Given the description of an element on the screen output the (x, y) to click on. 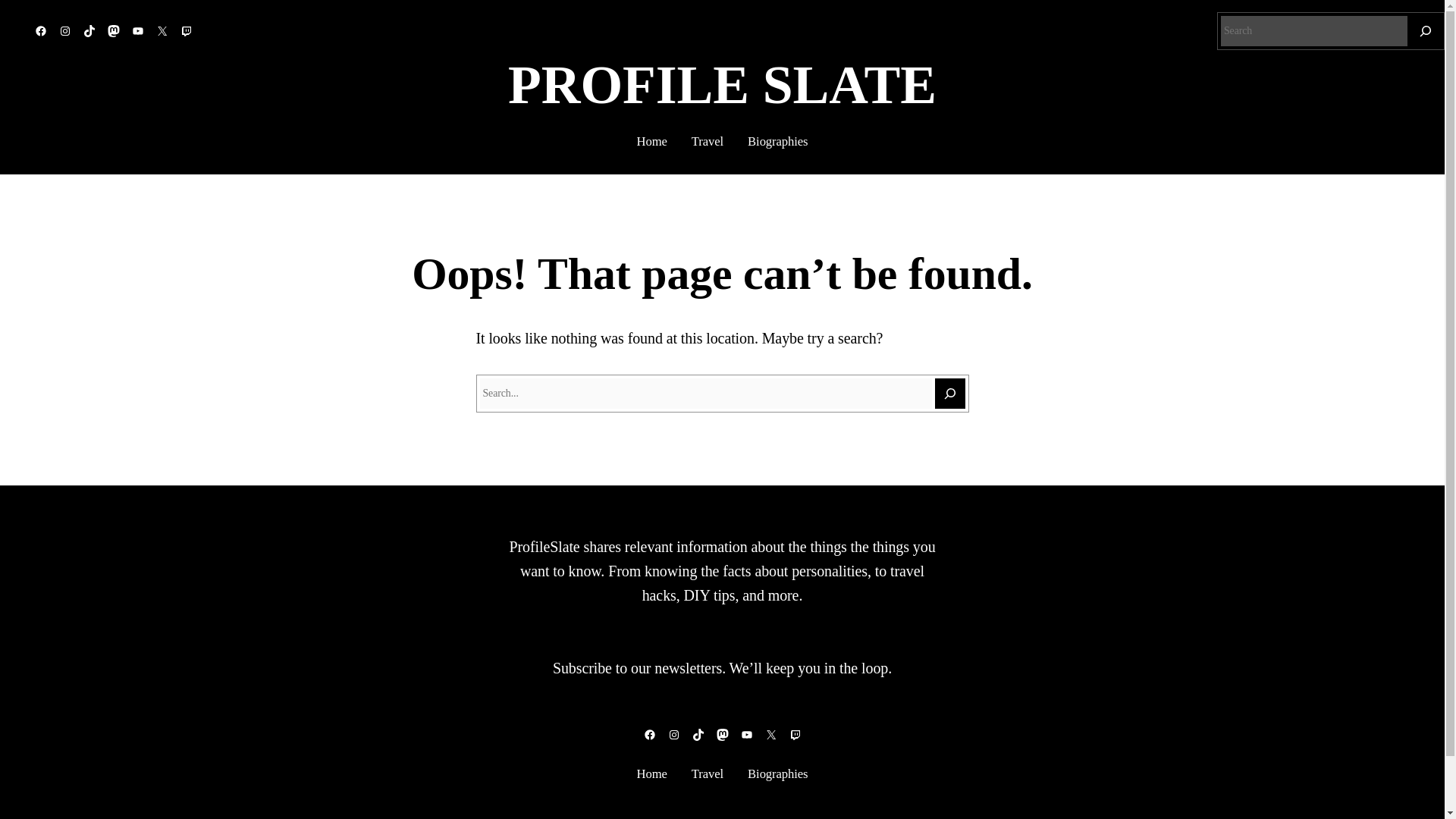
Twitch (794, 734)
TikTok (697, 734)
PROFILE SLATE (722, 84)
Home (651, 140)
TikTok (89, 30)
Facebook (649, 734)
Home (651, 773)
X (770, 734)
X (161, 30)
Twitch (186, 30)
